Given the description of an element on the screen output the (x, y) to click on. 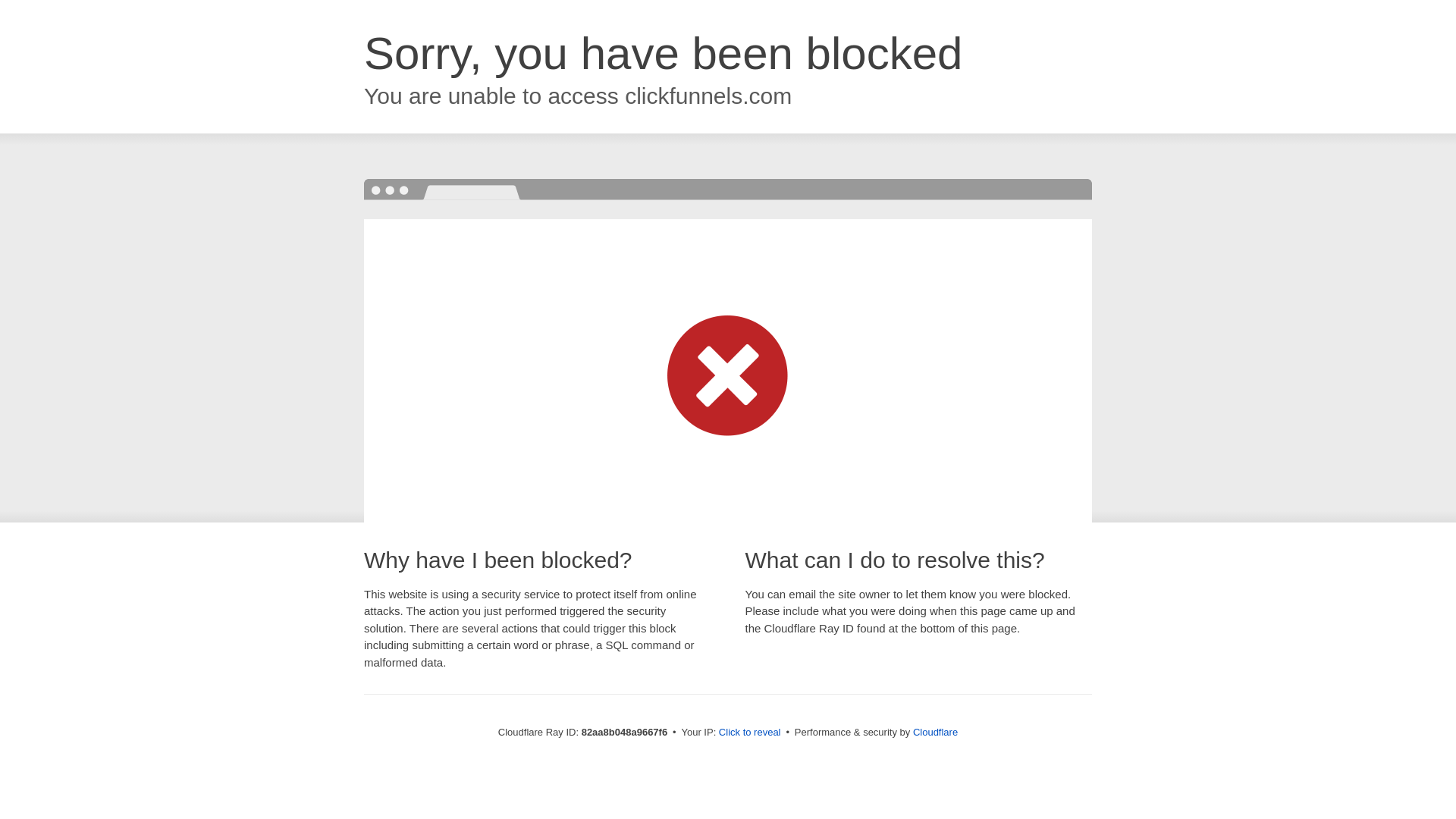
Cloudflare Element type: text (935, 731)
Click to reveal Element type: text (749, 732)
